Given the description of an element on the screen output the (x, y) to click on. 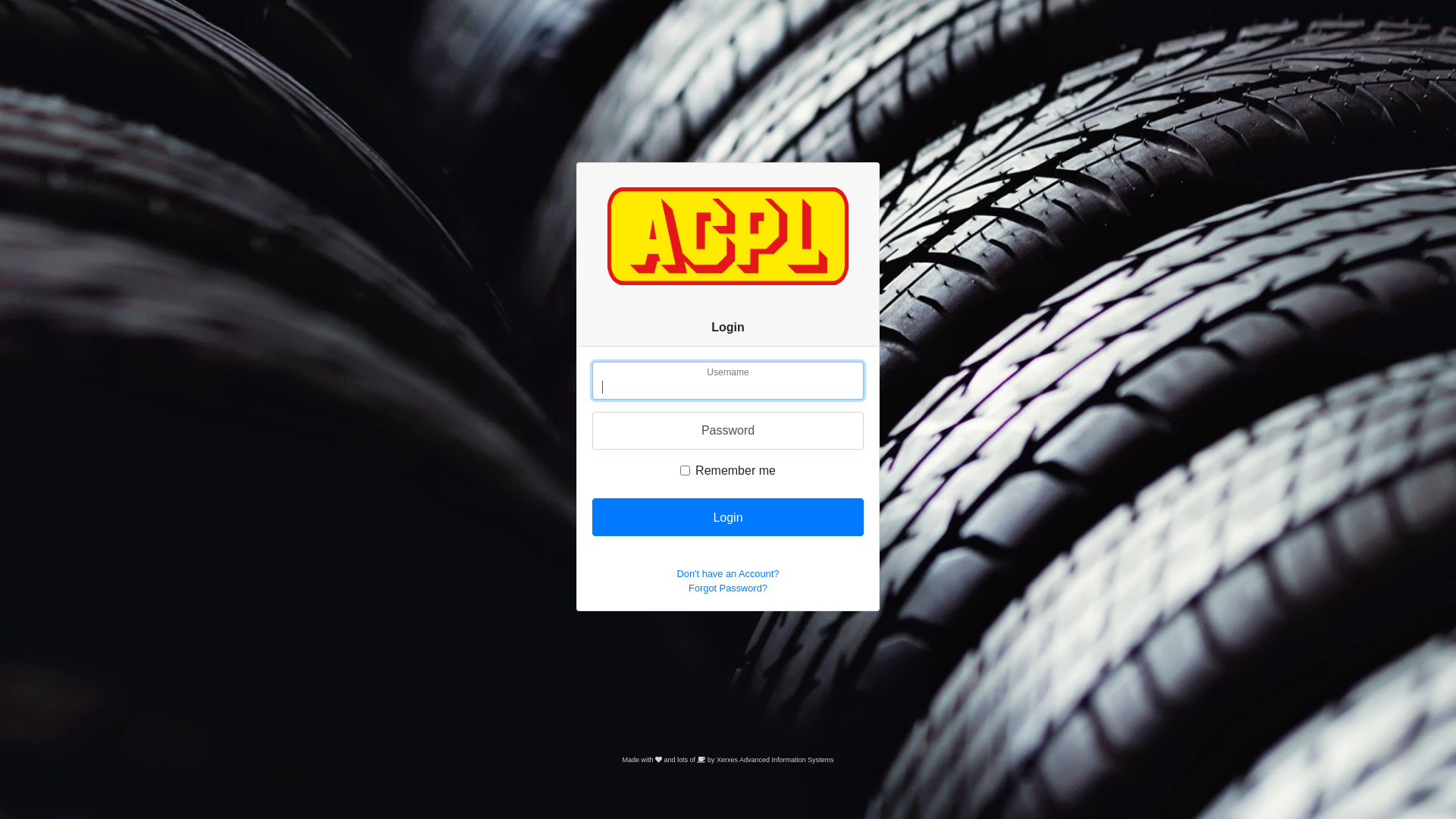
Don't have an Account? Element type: text (727, 573)
Login Element type: text (727, 517)
Forgot Password? Element type: text (727, 587)
